Given the description of an element on the screen output the (x, y) to click on. 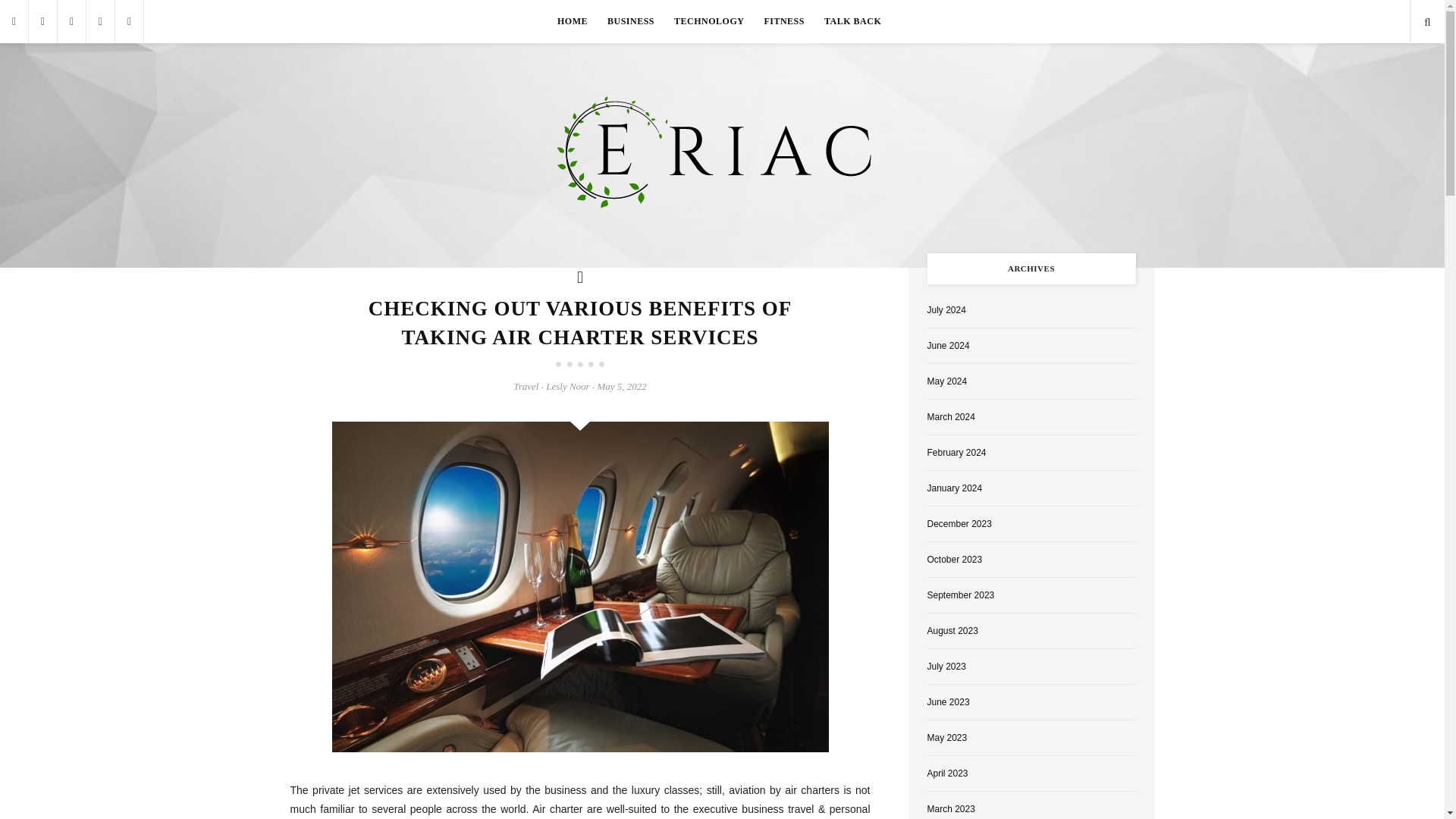
HOME (571, 21)
December 2023 (958, 523)
August 2023 (951, 630)
July 2024 (945, 309)
TECHNOLOGY (708, 21)
February 2024 (955, 452)
Travel (525, 386)
March 2024 (950, 416)
TALK BACK (852, 21)
June 2024 (947, 345)
